Given the description of an element on the screen output the (x, y) to click on. 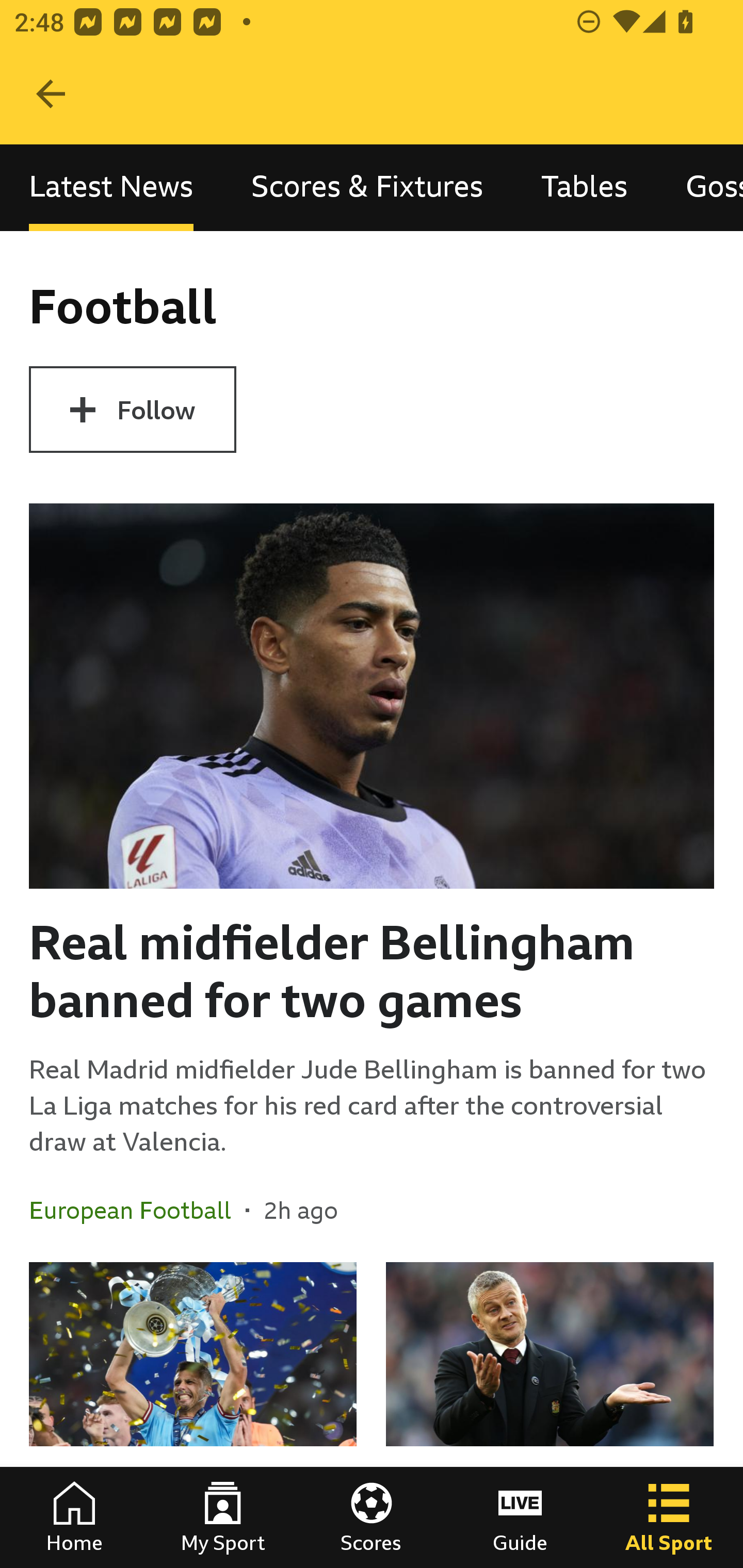
Navigate up (50, 93)
Latest News, selected Latest News (111, 187)
Scores & Fixtures (367, 187)
Tables (584, 187)
Gossip (699, 187)
Follow Football Follow (132, 409)
European Football In the section European Football (136, 1209)
No 'magic wand' for Man Utd - ex-boss Solskjaer (549, 1415)
Home (74, 1517)
My Sport (222, 1517)
Scores (371, 1517)
Guide (519, 1517)
